Given the description of an element on the screen output the (x, y) to click on. 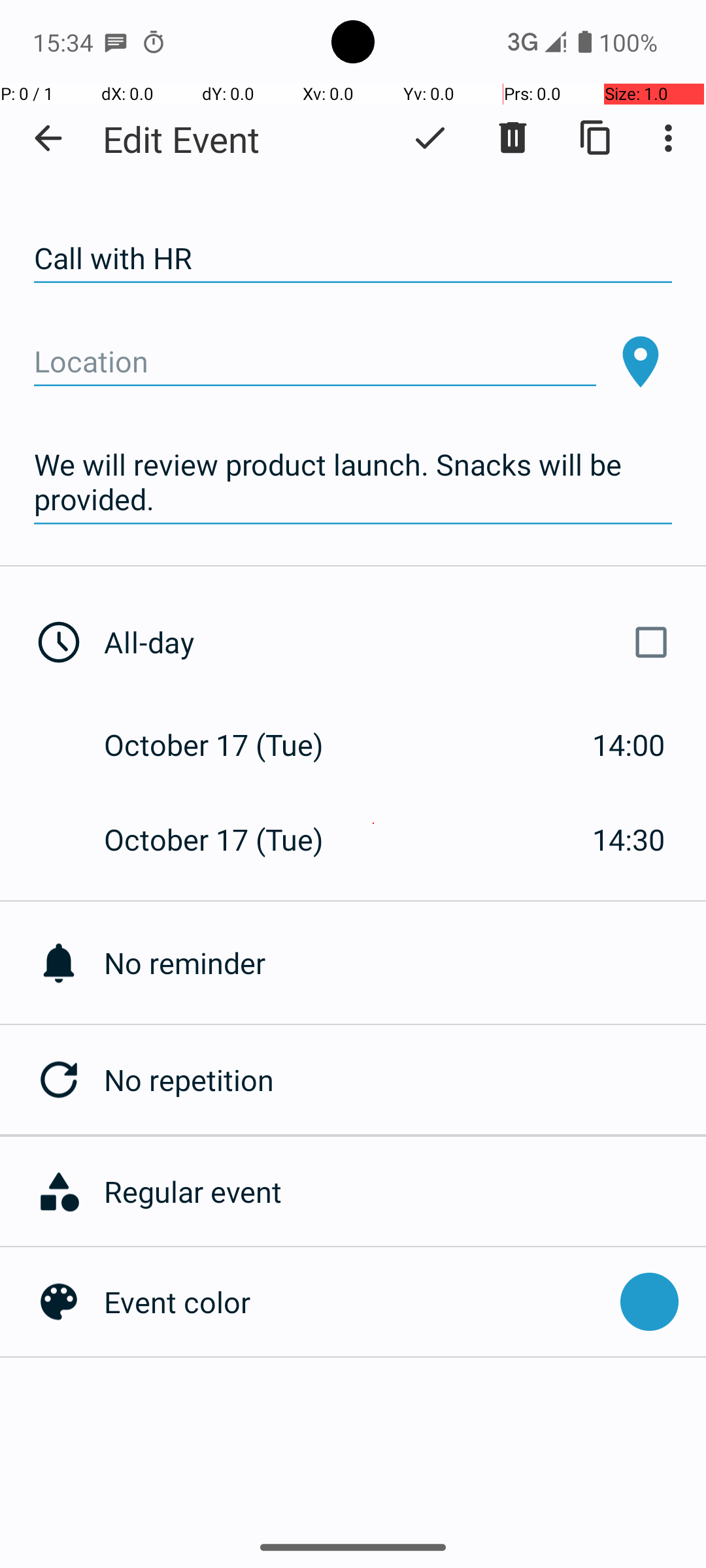
Edit Event Element type: android.widget.TextView (181, 138)
Duplicate event Element type: android.widget.Button (595, 137)
Call with HR Element type: android.widget.EditText (352, 258)
Location Element type: android.widget.EditText (314, 361)
We will review product launch. Snacks will be provided. Element type: android.widget.EditText (352, 482)
October 17 (Tue) Element type: android.widget.TextView (227, 744)
14:00 Element type: android.widget.TextView (628, 744)
14:30 Element type: android.widget.TextView (628, 838)
No reminder Element type: android.widget.TextView (404, 962)
No repetition Element type: android.widget.TextView (404, 1079)
All-day Element type: android.widget.CheckBox (390, 642)
Regular event Element type: android.widget.TextView (397, 1191)
Event color Element type: android.widget.TextView (354, 1301)
